Given the description of an element on the screen output the (x, y) to click on. 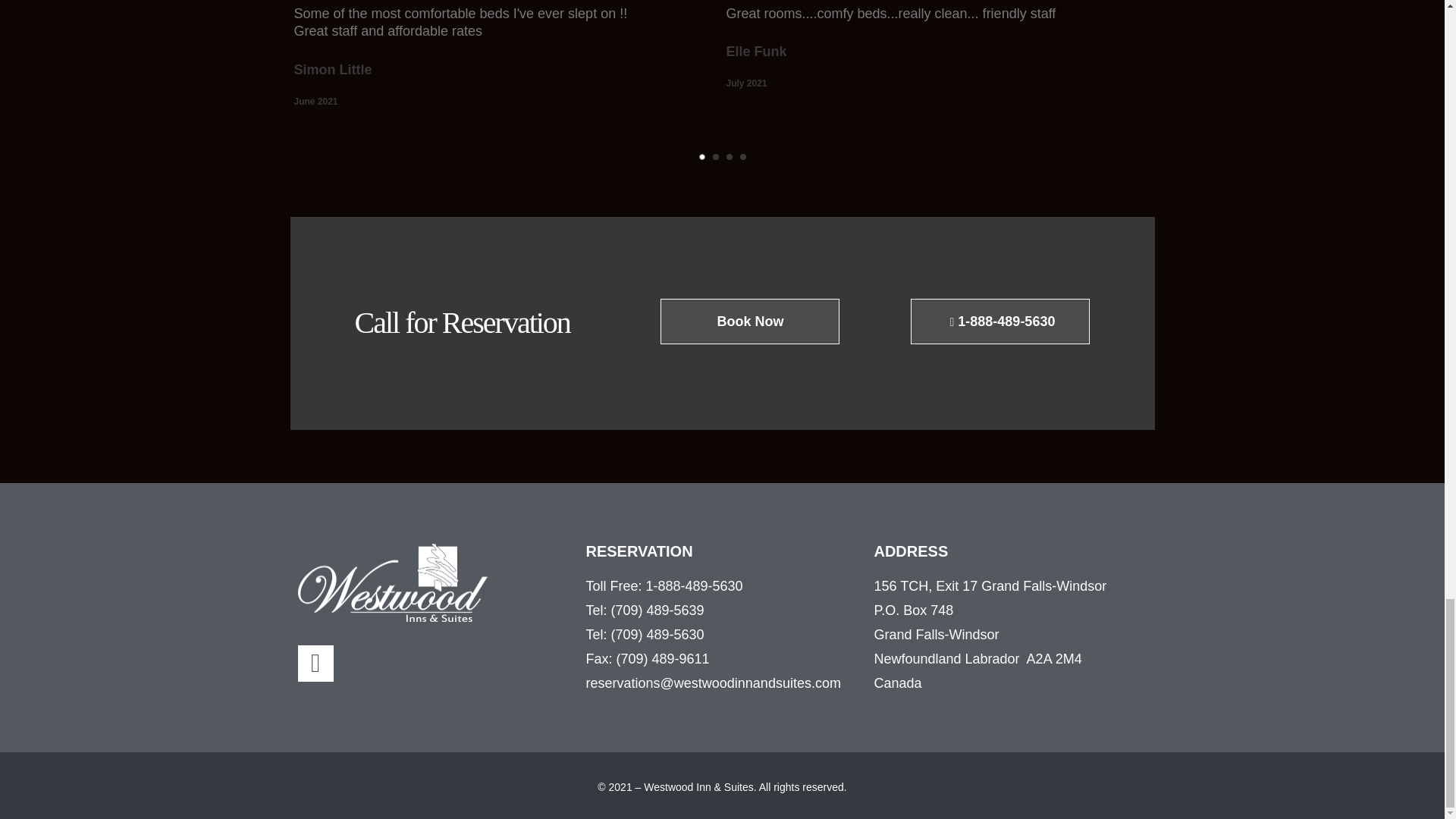
Toll Free: 1-888-489-5630 (722, 586)
Book Now (750, 320)
1-888-489-5630 (1000, 320)
